Given the description of an element on the screen output the (x, y) to click on. 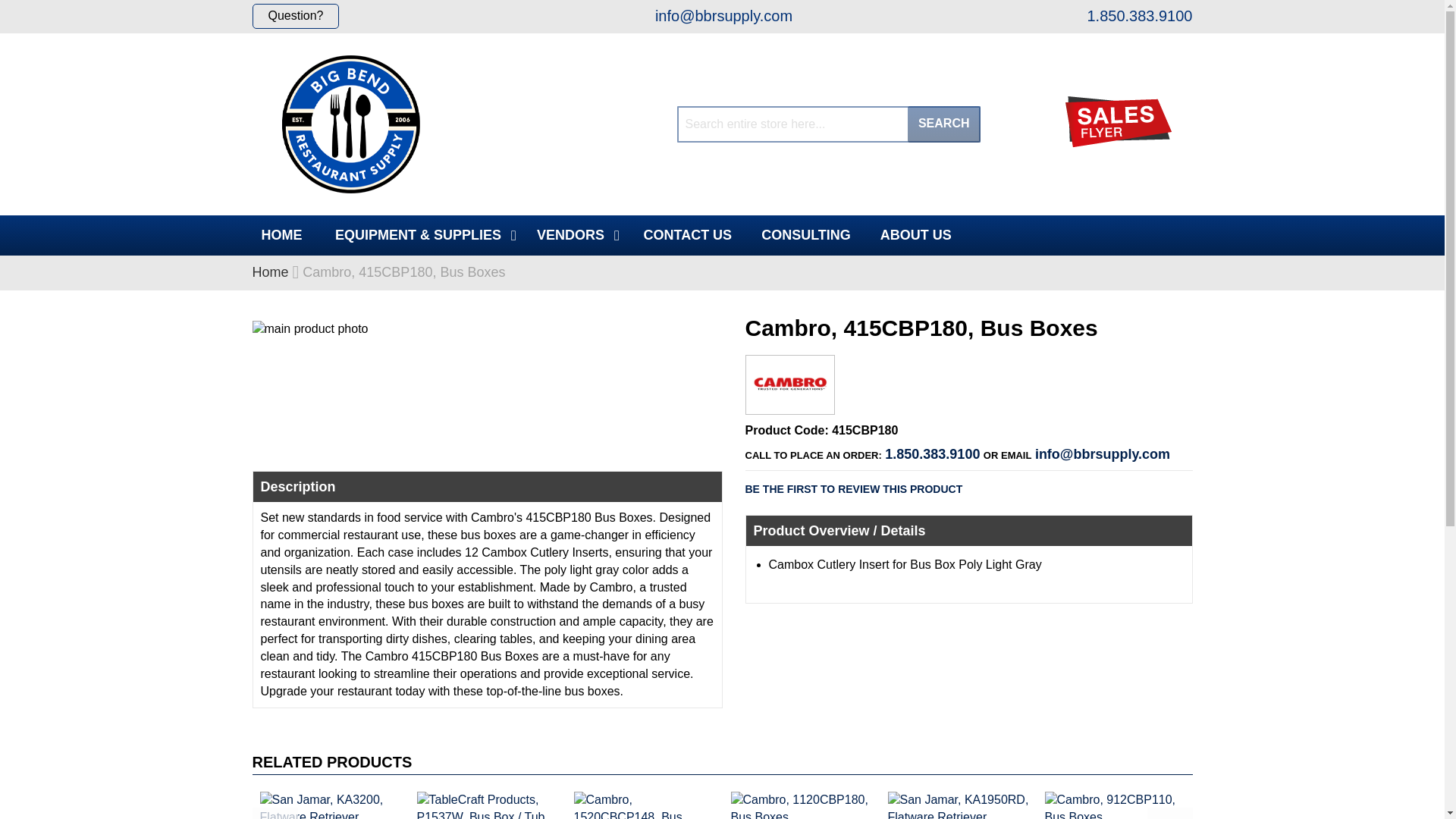
San Jamar, KA1950RD, Flatware Retriever (957, 801)
Cambro, 1120CBP110, Bus Boxes (173, 801)
Big Bend Restaurant Supply (349, 123)
Question? (295, 16)
San Jamar, KA3200, Flatware Retriever (330, 801)
Cambro, 1120CBP180, Bus Boxes (801, 801)
Cambro, 1520CBCP148, Bus Boxes (644, 801)
SEARCH (943, 124)
Go to Home Page (269, 272)
HOME (281, 235)
Search (943, 124)
Cambro (790, 402)
1.850.383.9100 (1137, 15)
